Given the description of an element on the screen output the (x, y) to click on. 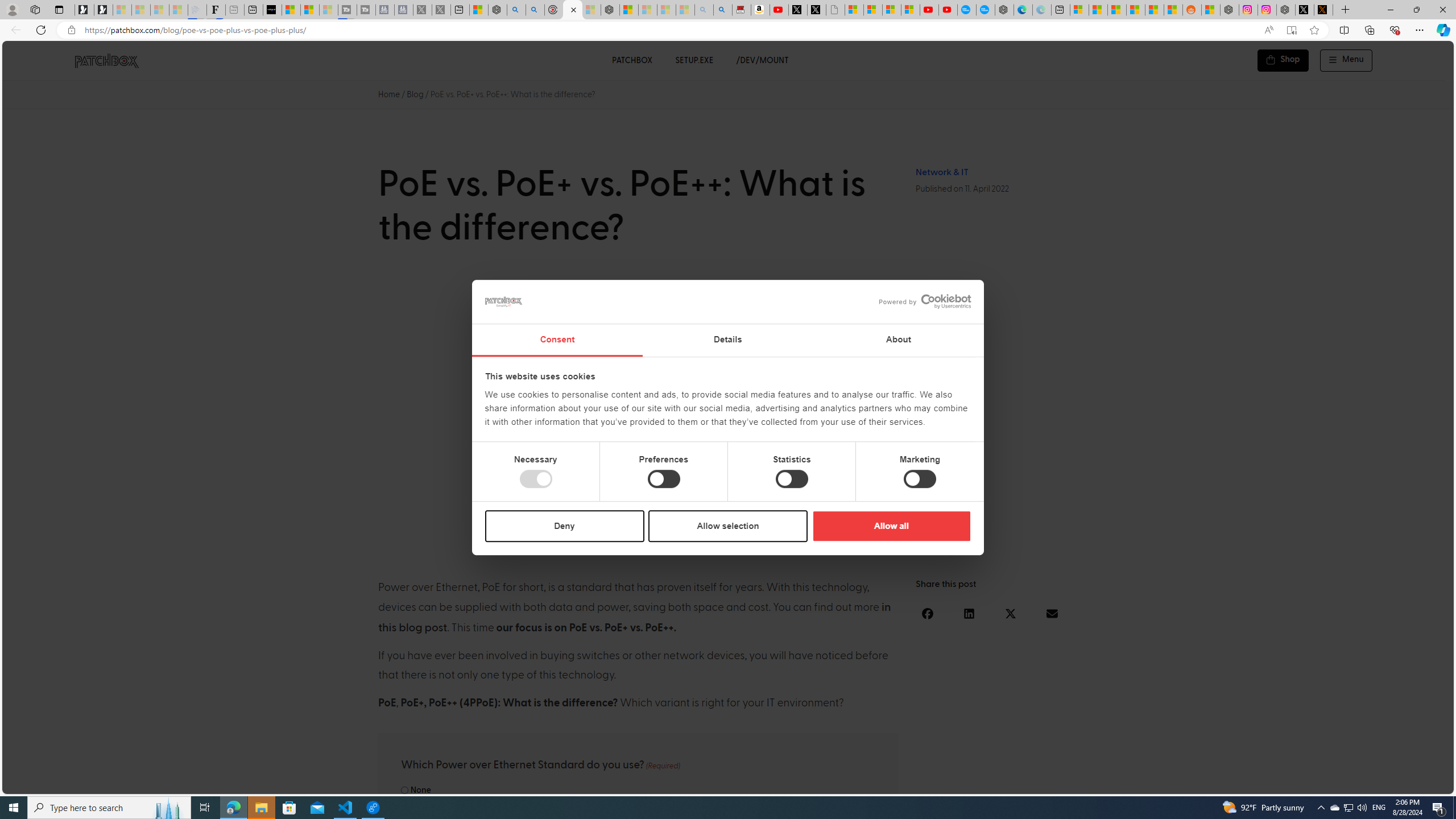
Network & IT (941, 171)
Necessary (535, 479)
Nordace (@NordaceOfficial) / X (1304, 9)
logo (503, 301)
Menu Off-Canvas (1346, 60)
